Given the description of an element on the screen output the (x, y) to click on. 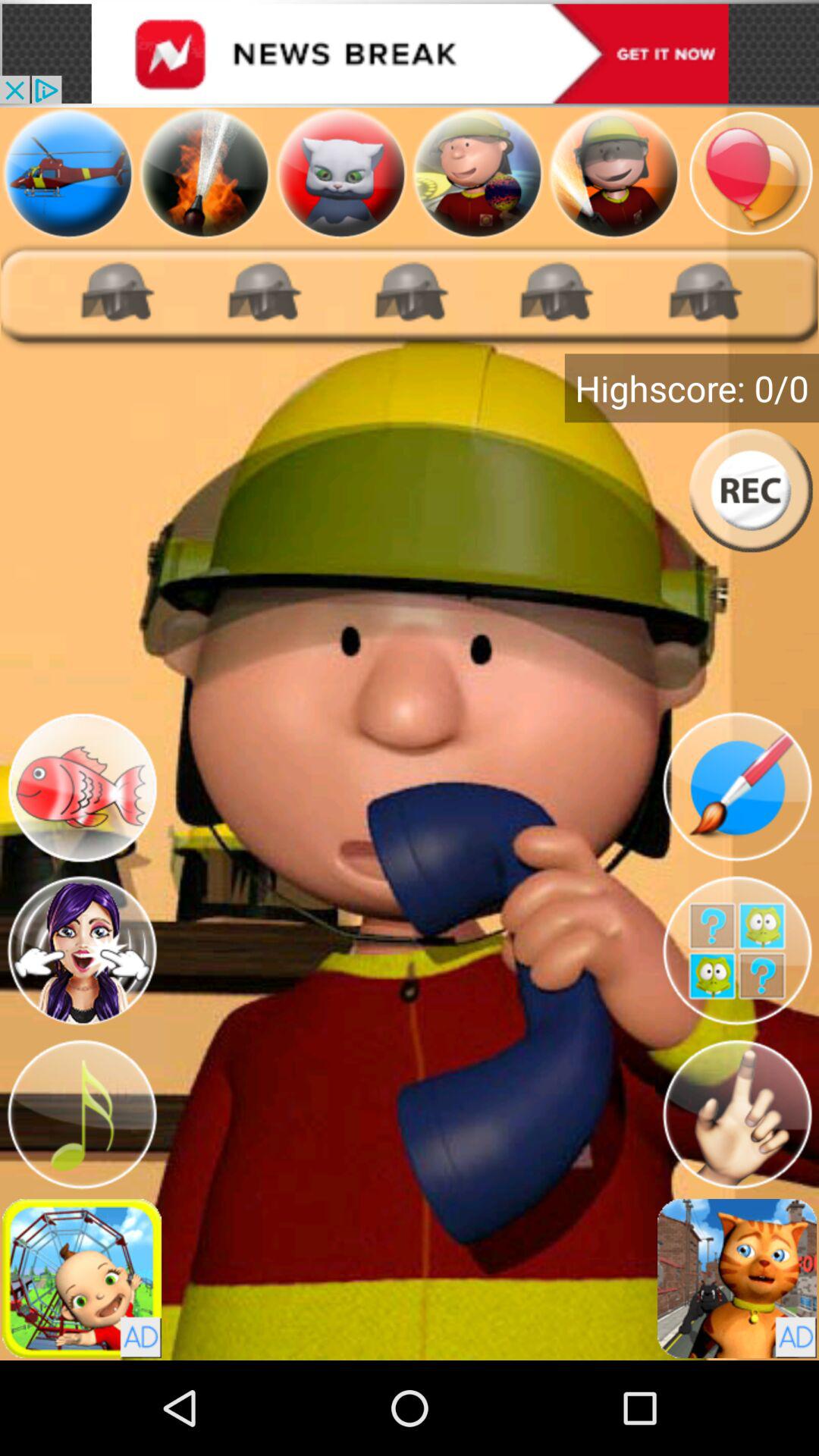
music options (81, 1114)
